Given the description of an element on the screen output the (x, y) to click on. 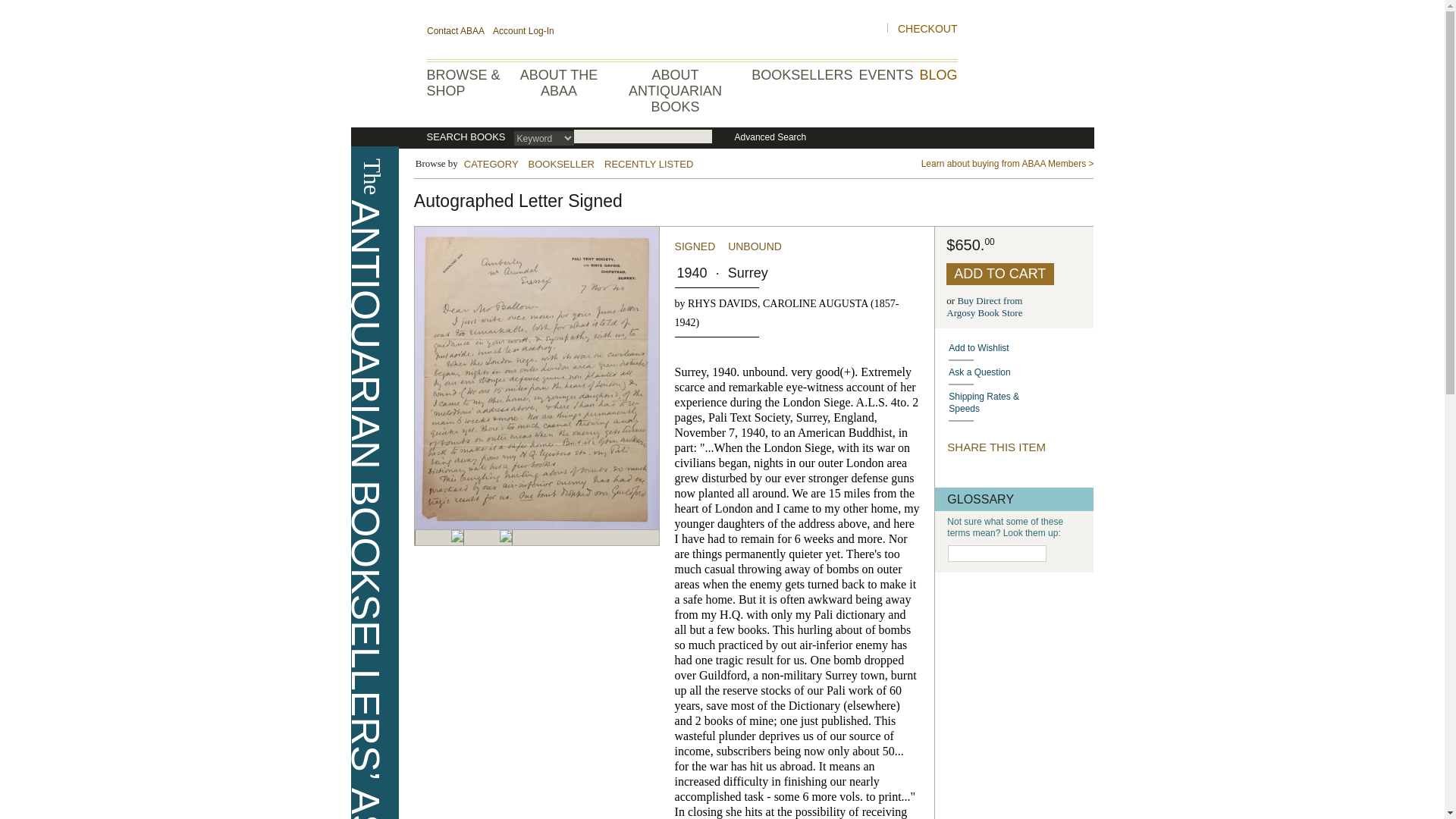
ABOUT THE ABAA (557, 82)
CATEGORY (492, 164)
Add to Wishlist (1021, 347)
EVENTS (885, 74)
ABOUT ANTIQUARIAN BOOKS (675, 90)
BOOKSELLER (984, 306)
Ask a Question (561, 164)
Skip to main content (1021, 372)
BLOG (8, 7)
